Given the description of an element on the screen output the (x, y) to click on. 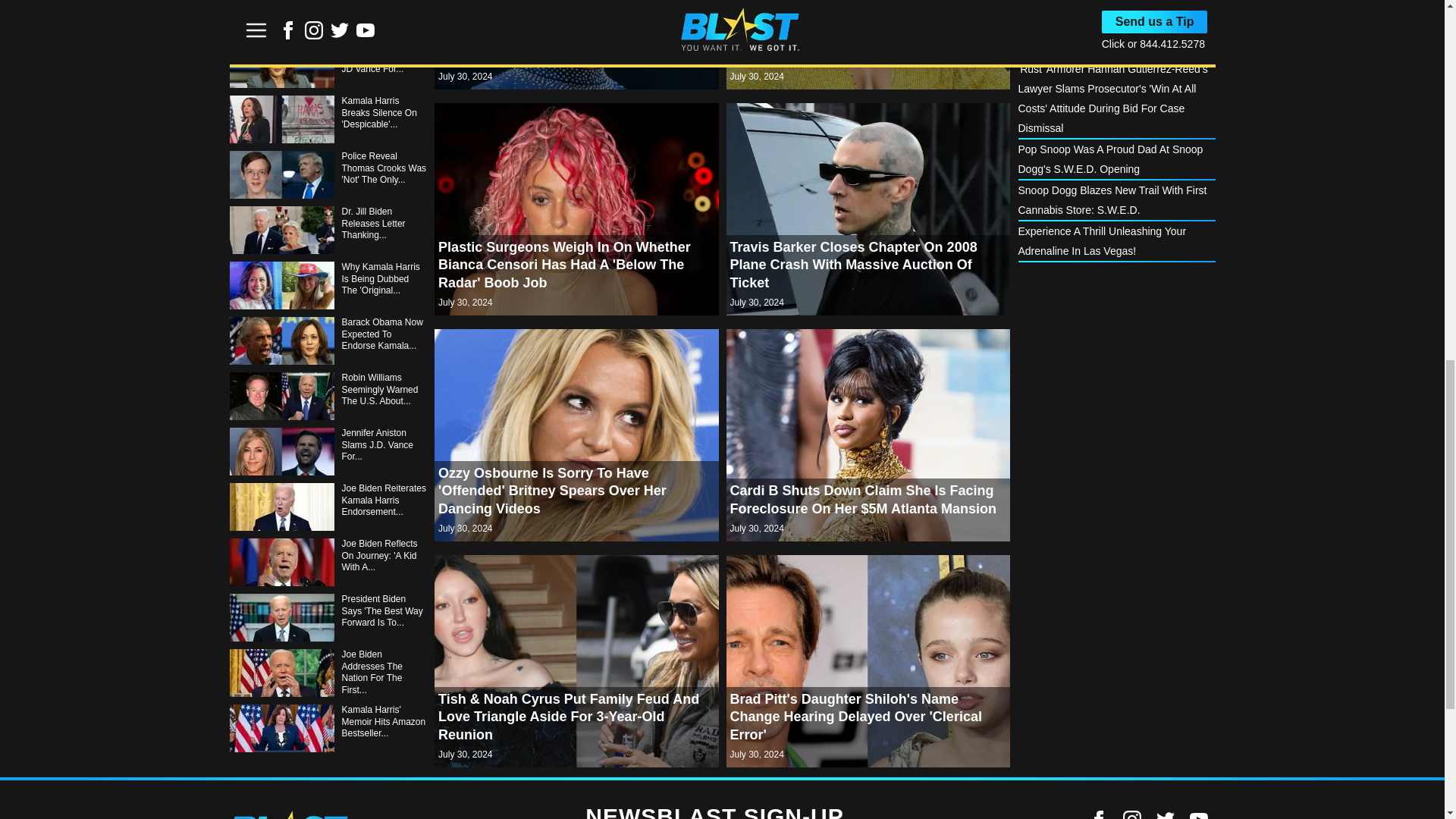
Kamala Harris Ushers In TikTok Era With Obama... (327, 63)
Dr. Jill Biden Releases Letter Thanking... (327, 451)
Kamala Harris' Stepdaughter Slams JD Vance For... (327, 285)
Robin Williams Seemingly Warned The U.S. About... (327, 617)
Kamala Harris Breaks Silence On 'Despicable'... (327, 340)
Police Reveal Thomas Crooks Was 'Not' The Only... (327, 396)
Sharon Stone Vows To Flee The US For Italy If... (327, 229)
Why Kamala Harris Is Being Dubbed The 'Original... (327, 506)
Reese Witherspoon Praises Jennifer Aniston For... (327, 119)
Martin Lawrence Hung Out With The Obamas Before... (327, 16)
